Given the description of an element on the screen output the (x, y) to click on. 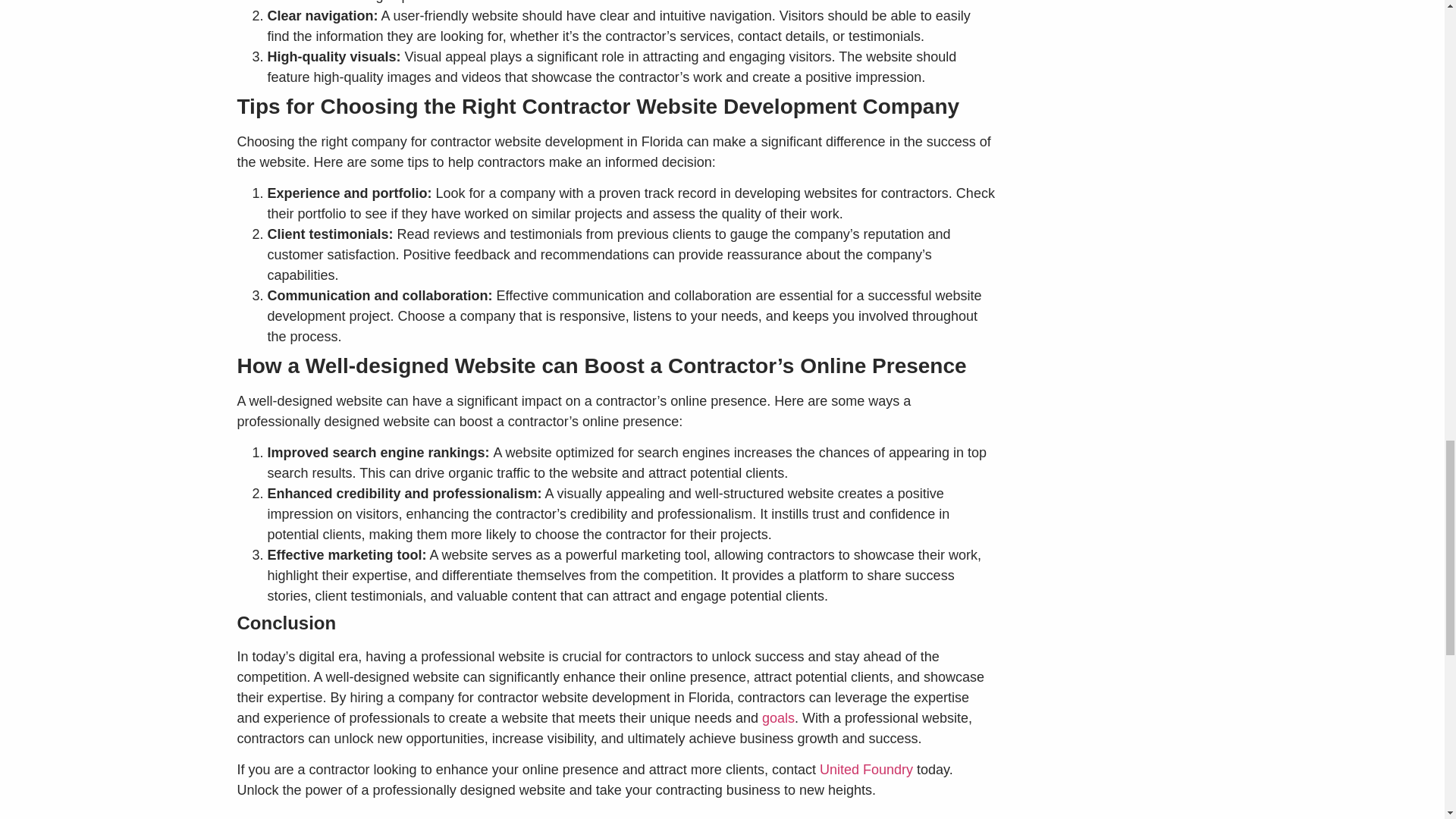
United Foundry (865, 769)
goals (777, 717)
